Given the description of an element on the screen output the (x, y) to click on. 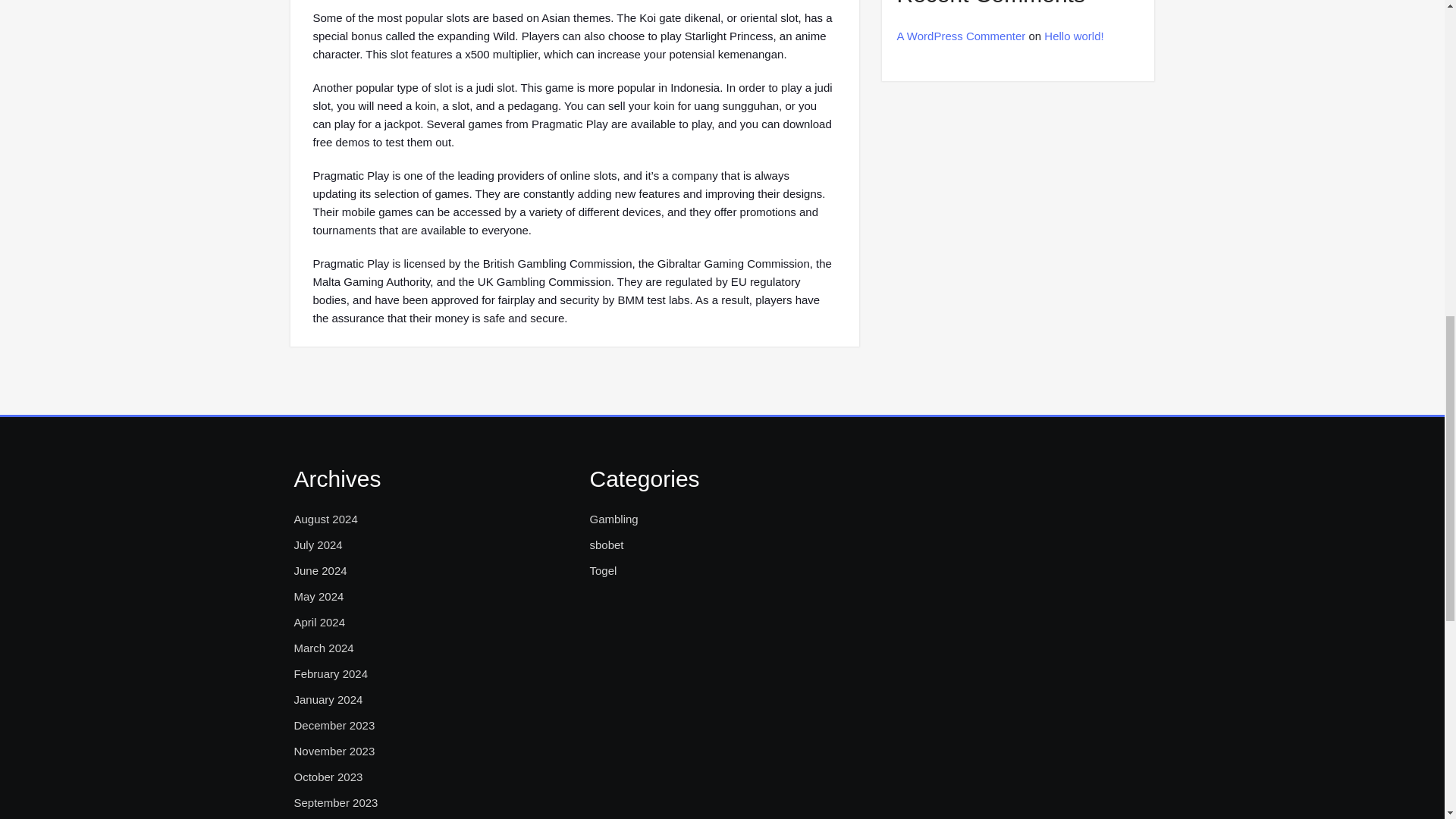
Hello world! (1073, 35)
December 2023 (334, 725)
September 2023 (336, 802)
October 2023 (328, 777)
November 2023 (334, 751)
A WordPress Commenter (960, 35)
January 2024 (328, 700)
May 2024 (318, 597)
April 2024 (320, 622)
August 2024 (326, 519)
